Given the description of an element on the screen output the (x, y) to click on. 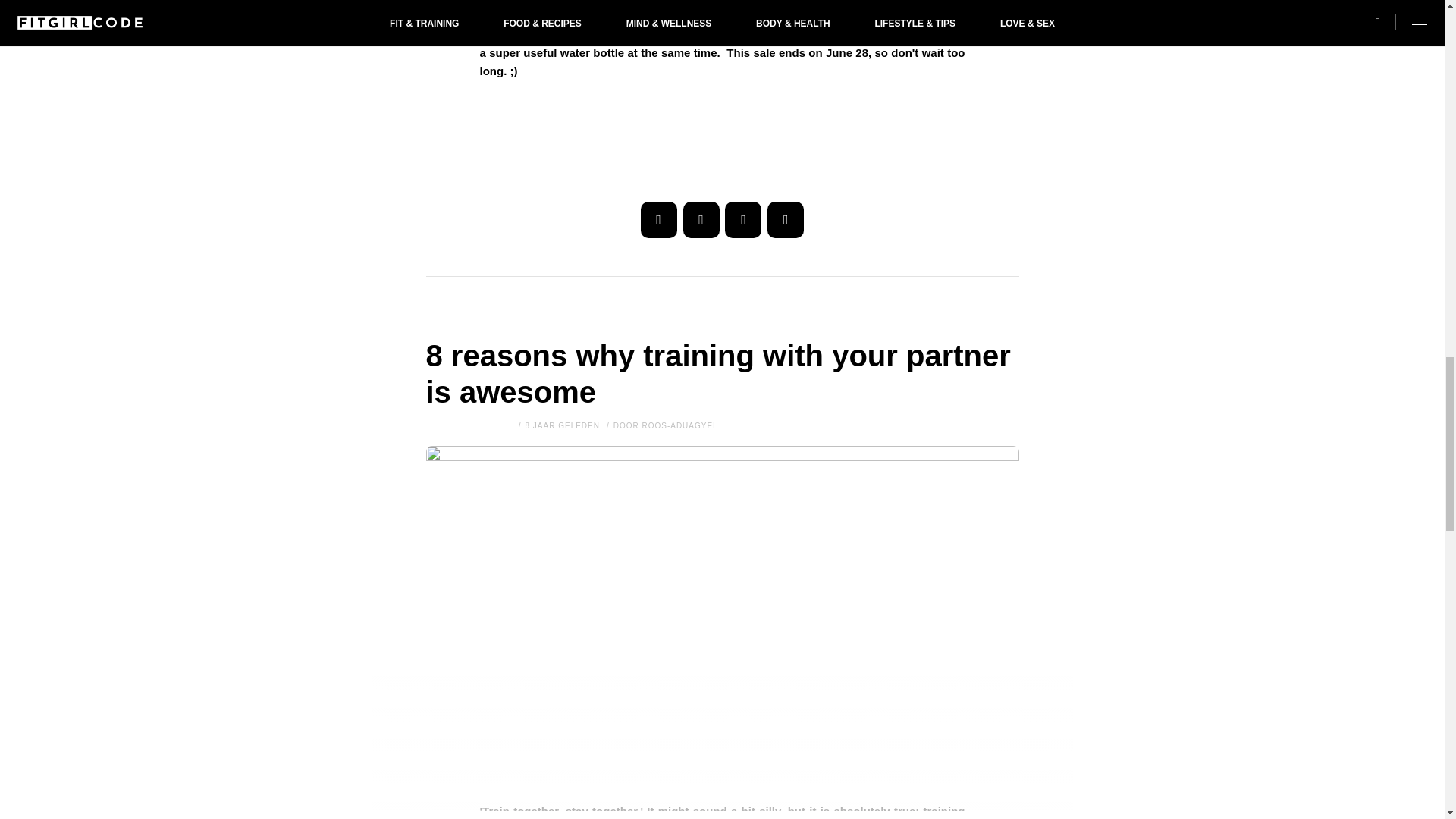
Tweet (700, 219)
ROOS-ADUAGYEI (678, 425)
Dit artikel delen op Facebook (658, 219)
Delen (658, 219)
Pin (743, 219)
App (785, 219)
